Given the description of an element on the screen output the (x, y) to click on. 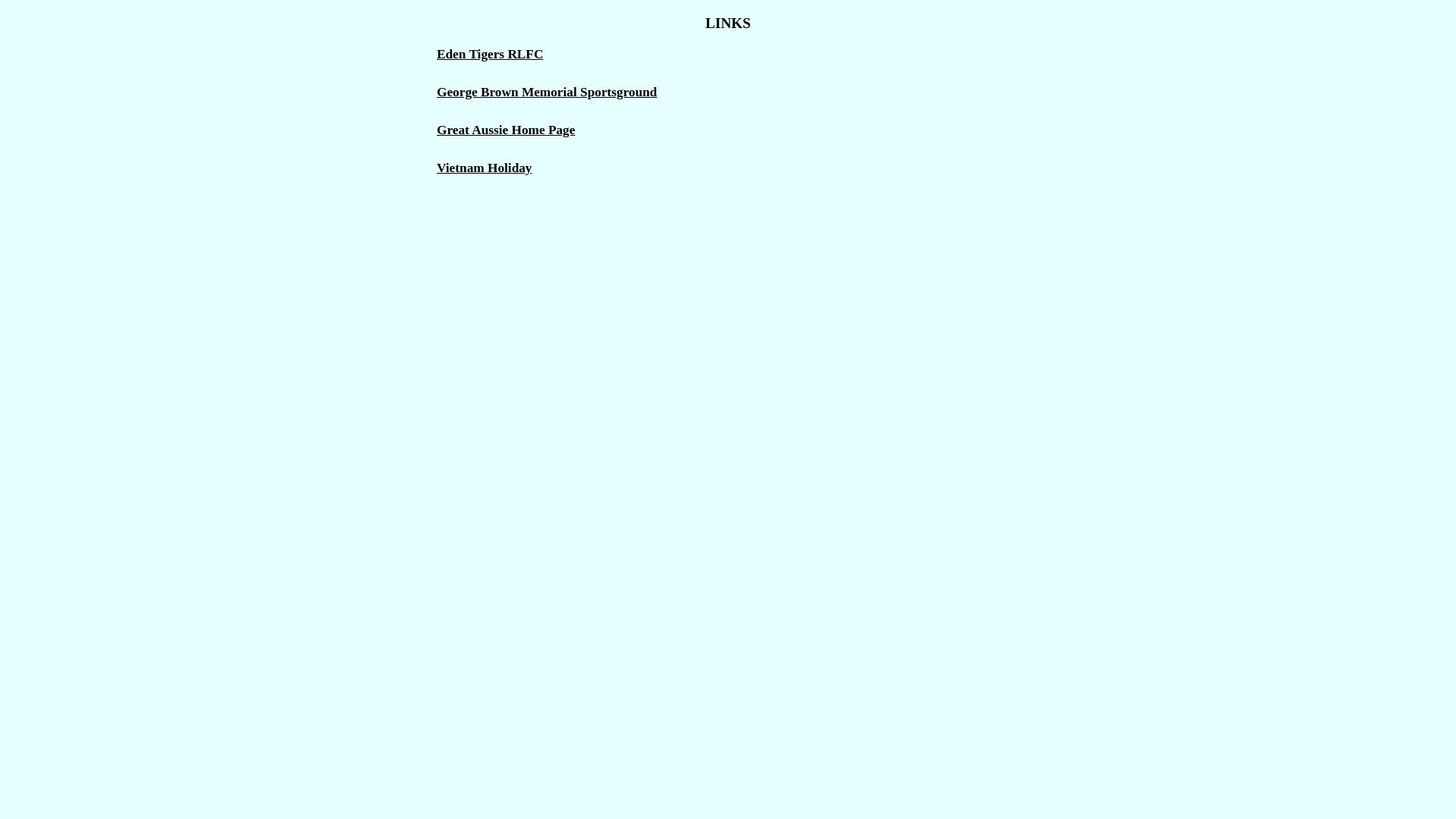
George Brown Memorial Sportsground Element type: text (546, 91)
Great Aussie Home Page Element type: text (505, 129)
Vietnam Holiday Element type: text (484, 167)
Eden Tigers RLFC Element type: text (489, 54)
